Given the description of an element on the screen output the (x, y) to click on. 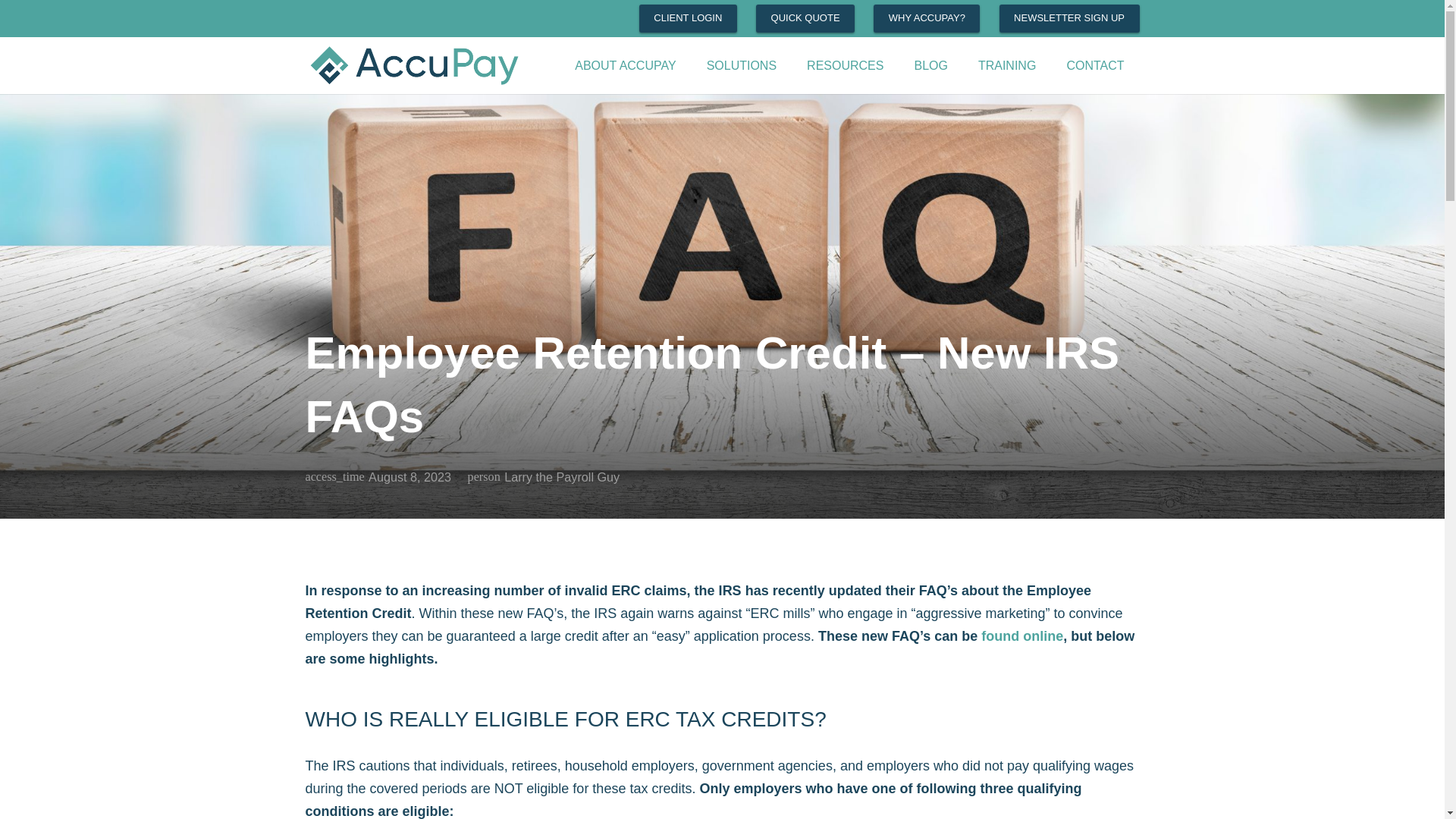
NEWSLETTER SIGN UP (1069, 17)
SOLUTIONS (741, 65)
Larry the Payroll Guy (561, 477)
ABOUT ACCUPAY (624, 65)
found online (1021, 635)
BLOG (930, 65)
TRAINING (1006, 65)
CLIENT LOGIN (687, 17)
QUICK QUOTE (804, 17)
CONTACT (1094, 65)
WHY ACCUPAY? (926, 17)
RESOURCES (845, 65)
